Given the description of an element on the screen output the (x, y) to click on. 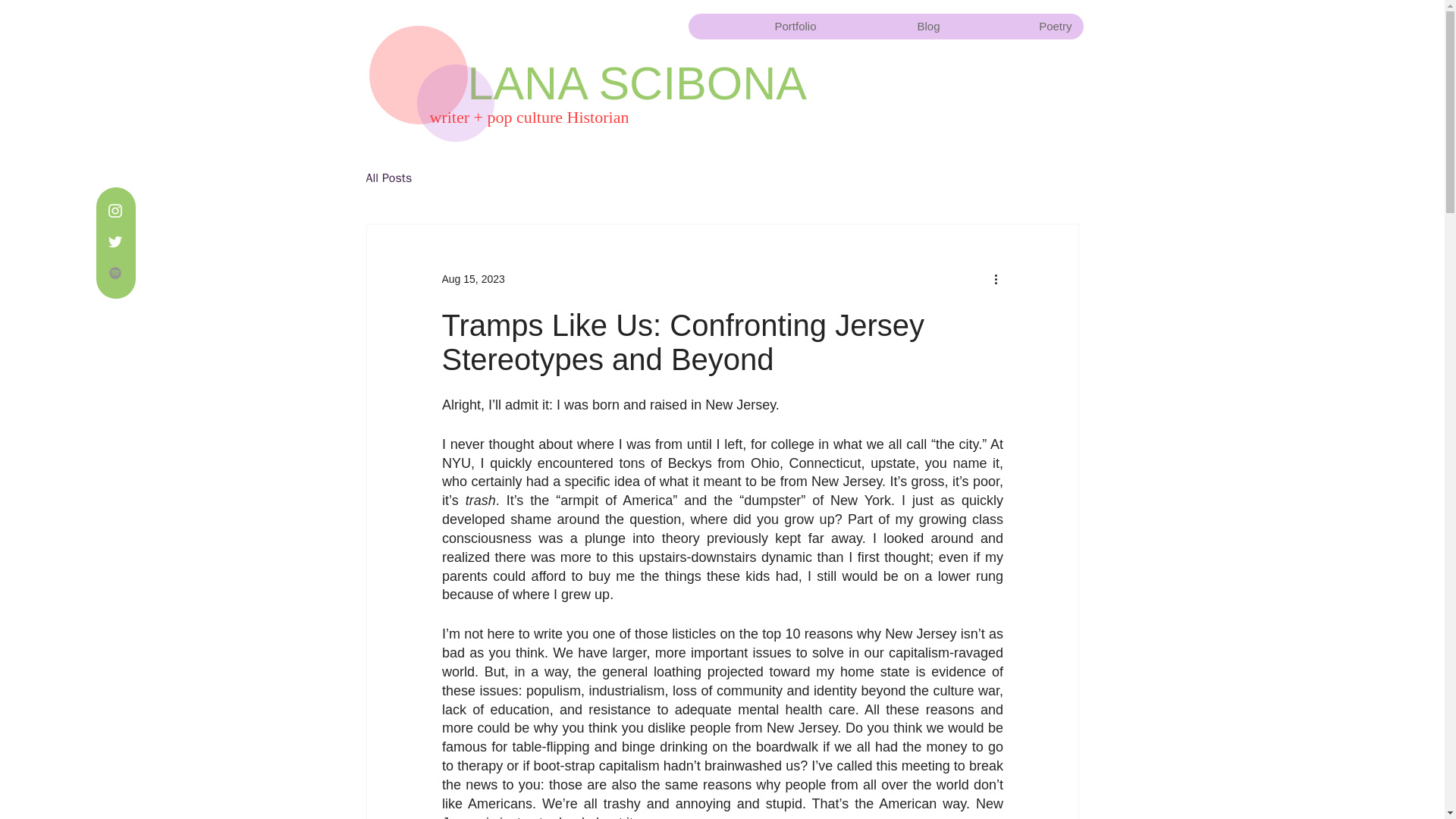
Portfolio (758, 26)
Blog (890, 26)
Poetry (1016, 26)
LANA SCIBONA (636, 82)
All Posts (388, 177)
Aug 15, 2023 (472, 278)
